Given the description of an element on the screen output the (x, y) to click on. 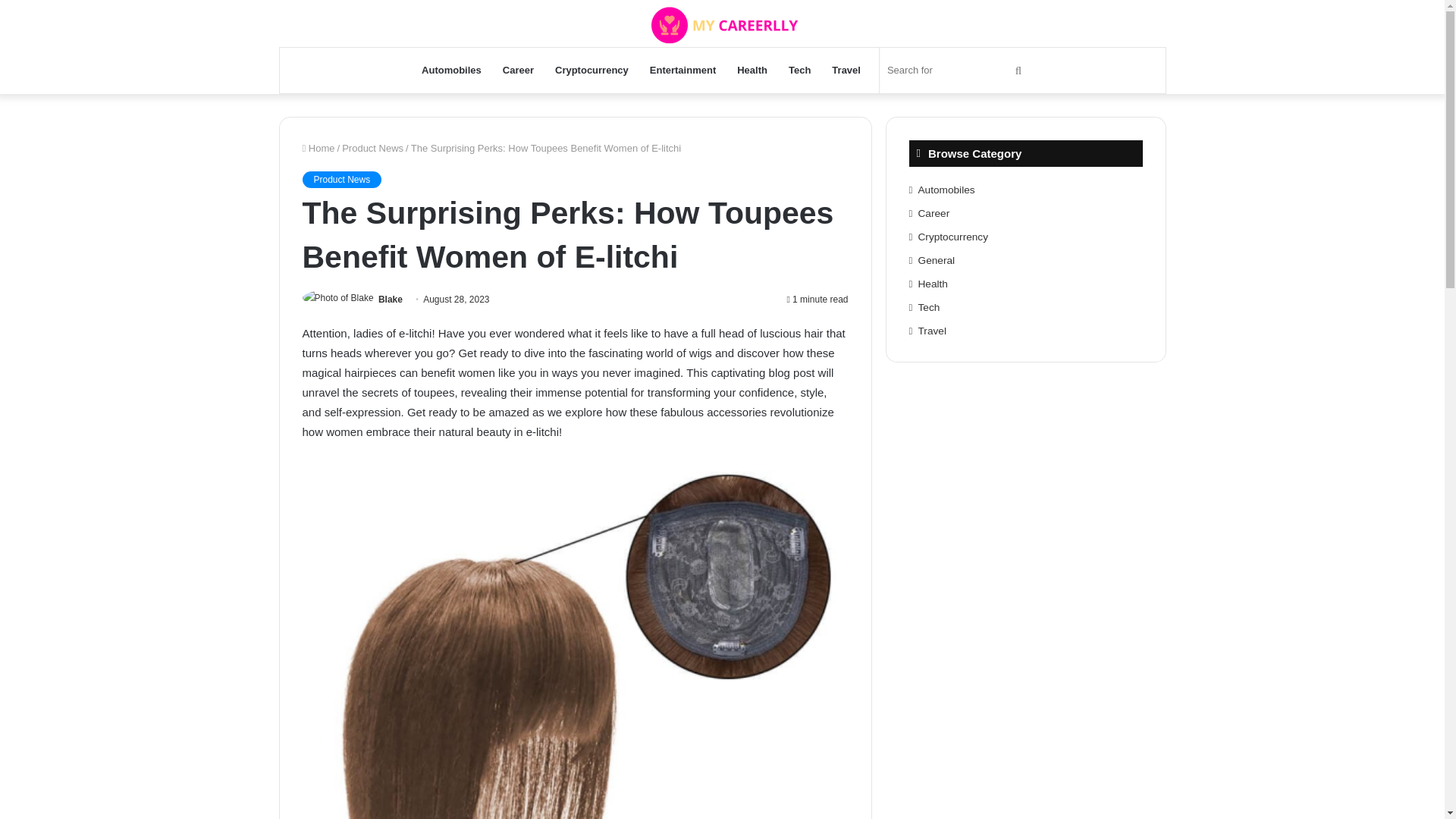
Travel (845, 70)
Tech (799, 70)
Home (317, 147)
Career (934, 213)
Health (751, 70)
Cryptocurrency (591, 70)
My Careerlly (721, 22)
Search for (956, 70)
Automobiles (946, 189)
Blake (390, 299)
Blake (390, 299)
Product News (341, 179)
Automobiles (451, 70)
Career (518, 70)
Entertainment (682, 70)
